Given the description of an element on the screen output the (x, y) to click on. 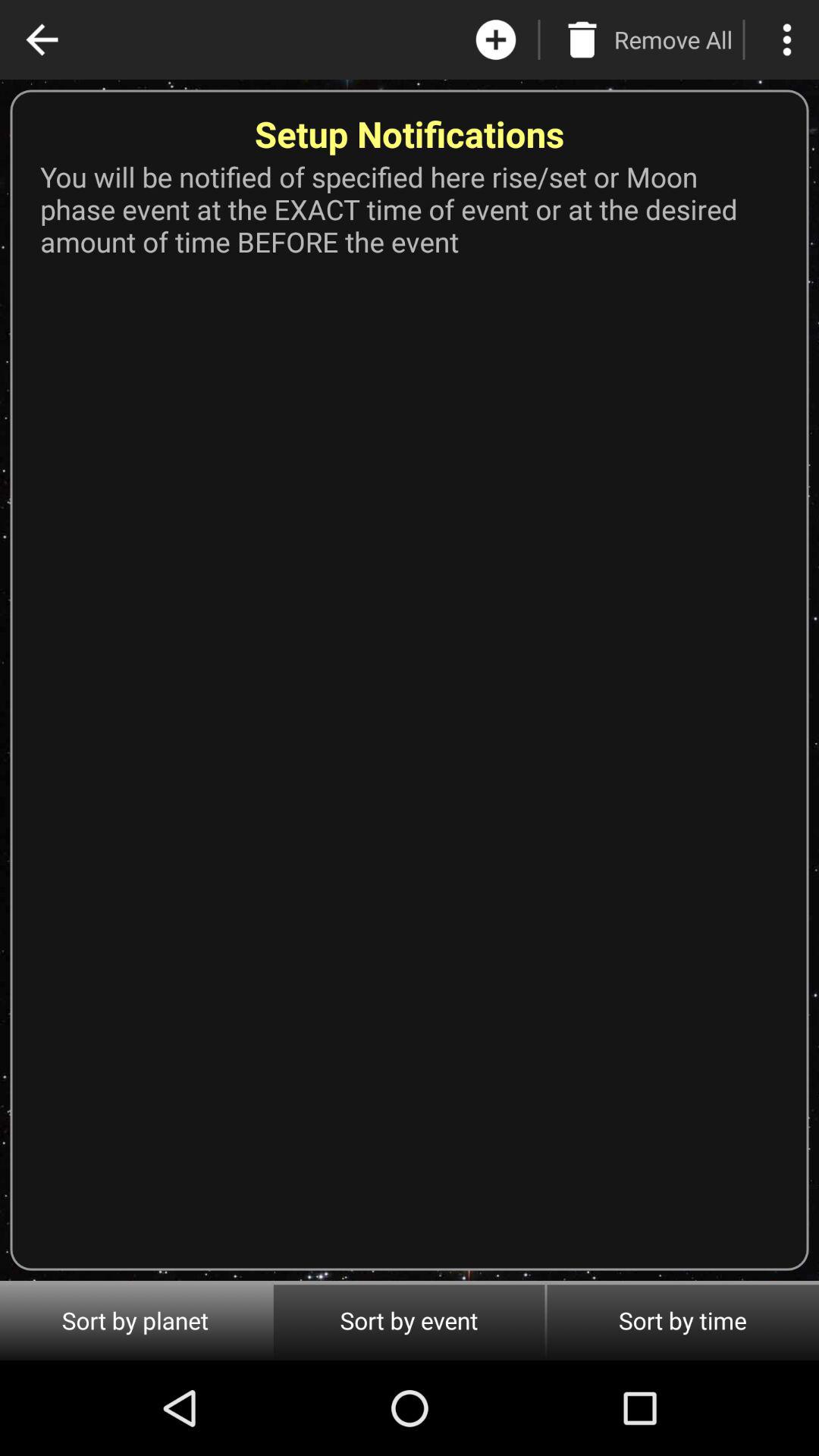
go back (41, 39)
